Given the description of an element on the screen output the (x, y) to click on. 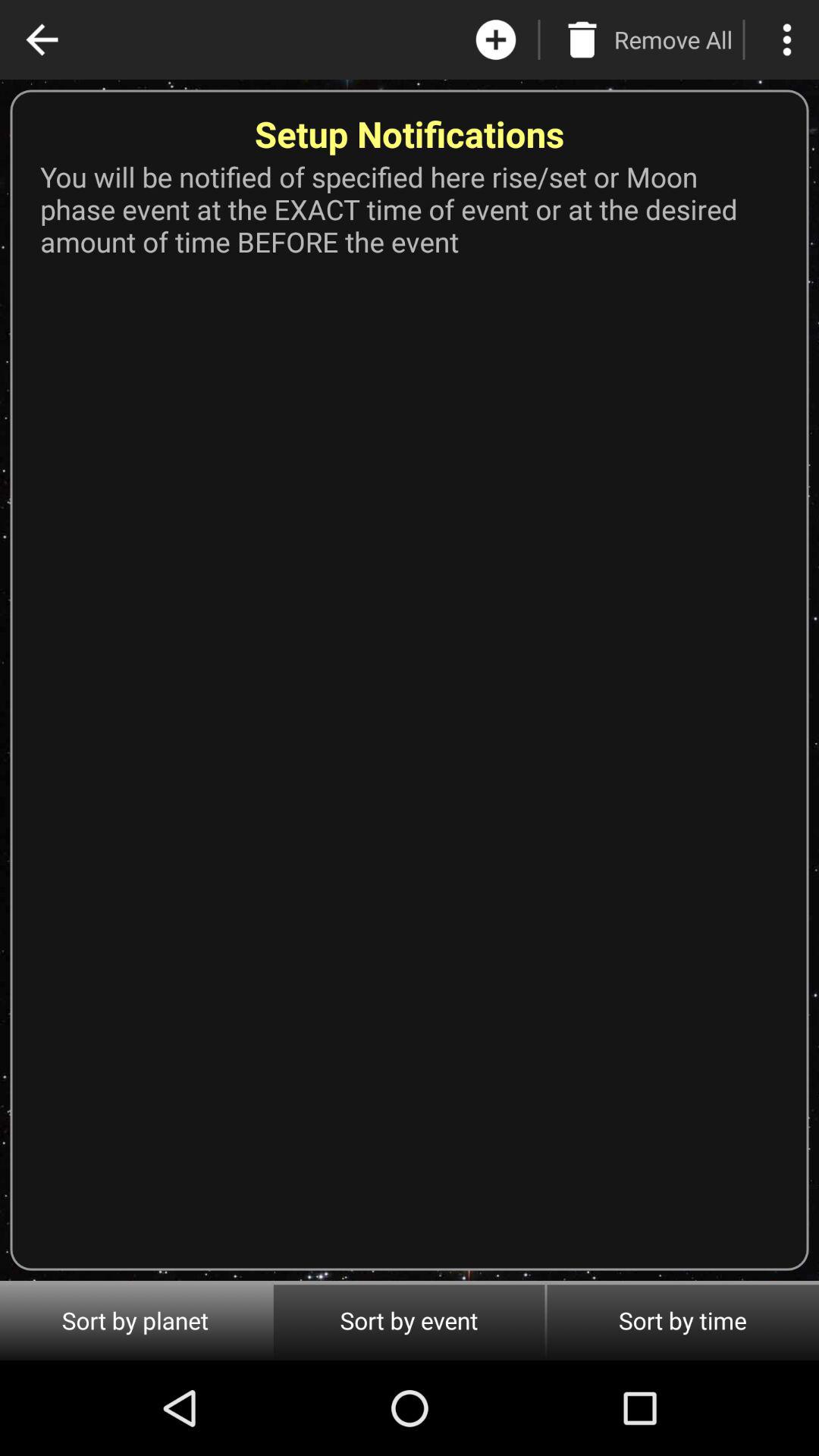
go back (41, 39)
